Given the description of an element on the screen output the (x, y) to click on. 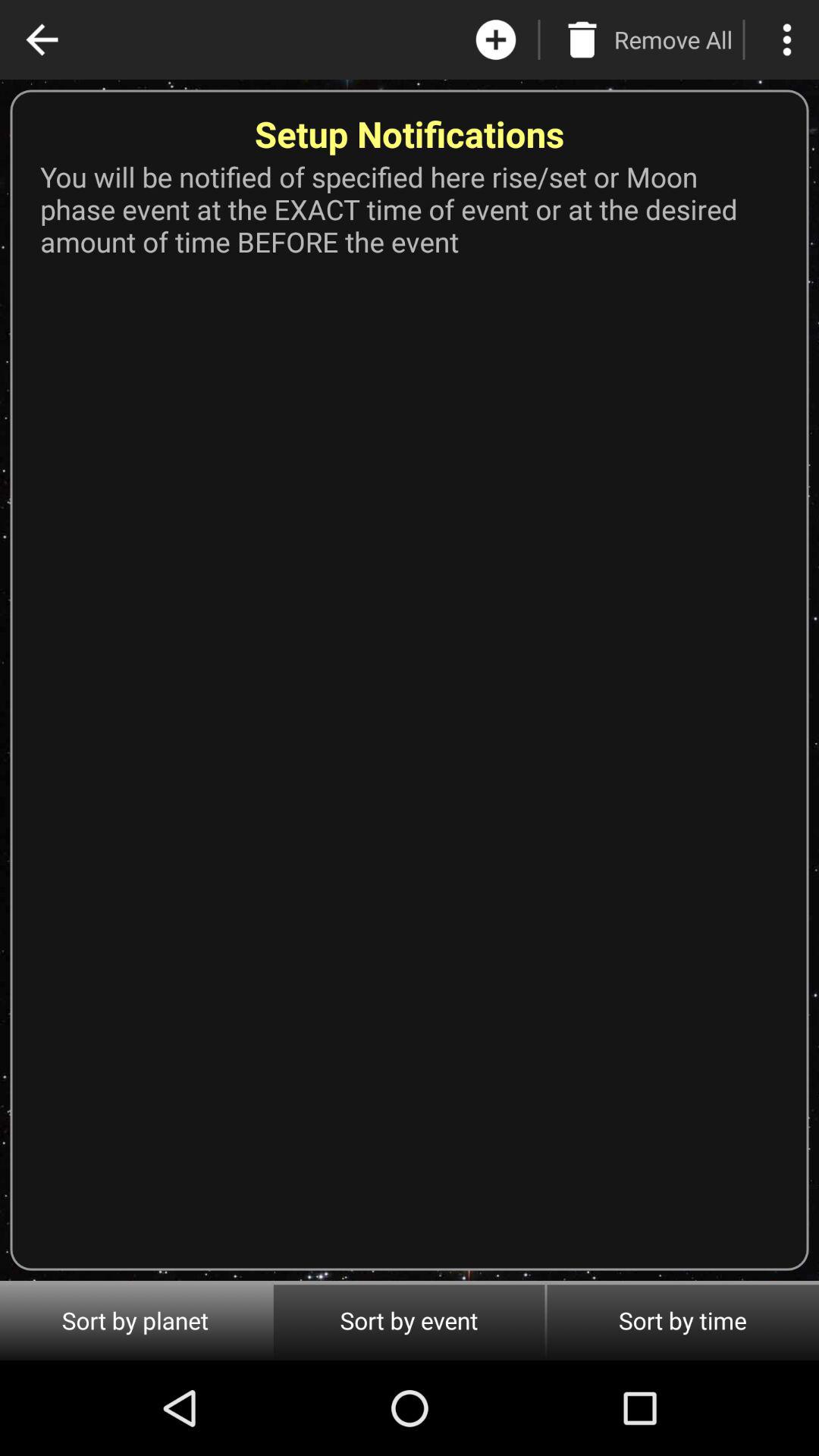
go back (41, 39)
